Given the description of an element on the screen output the (x, y) to click on. 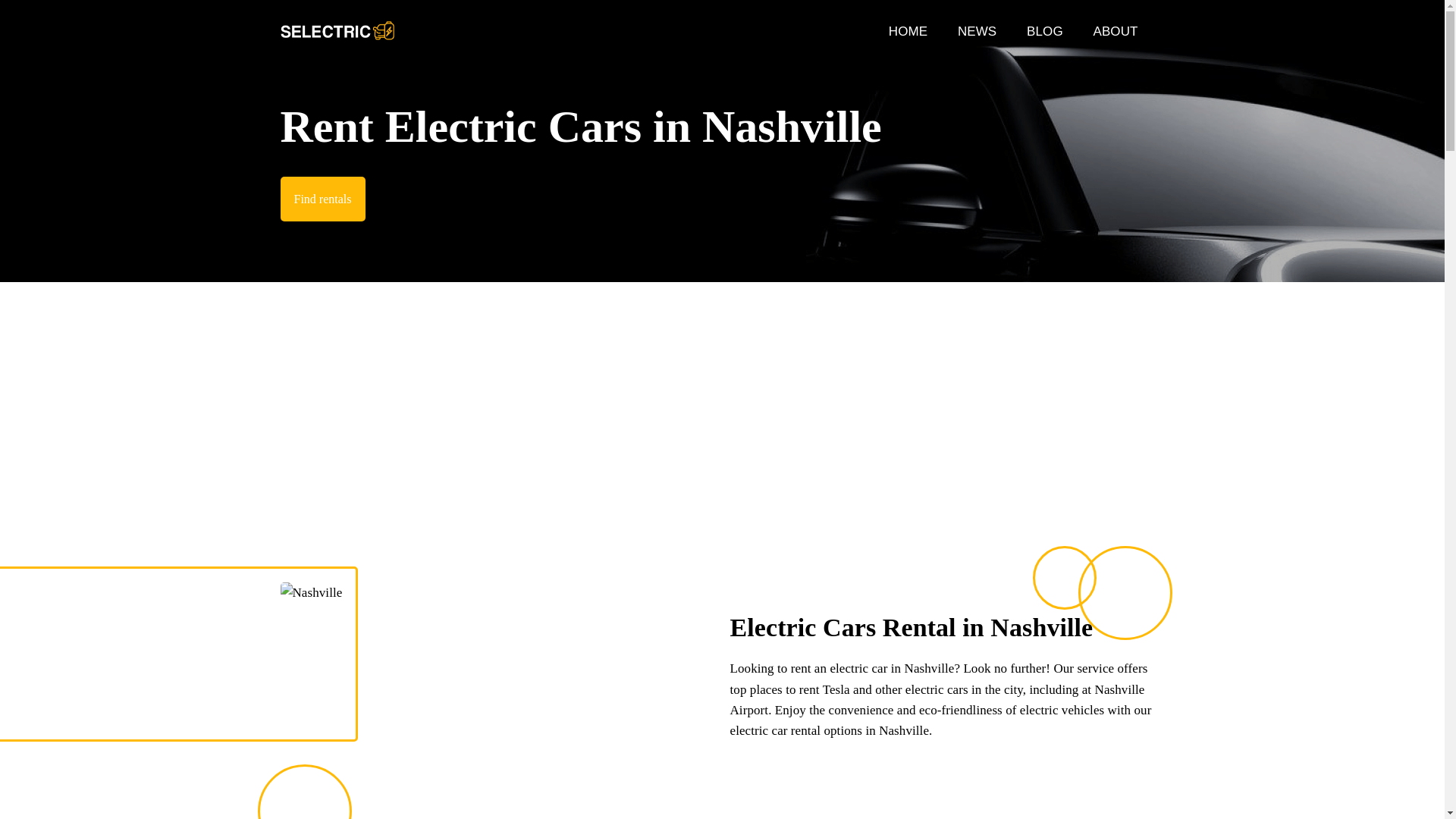
Find rentals (323, 198)
ABOUT (1115, 31)
HOME (909, 31)
BLOG (1045, 31)
Find rentals (323, 198)
NEWS (979, 31)
Find rentals (323, 198)
